Given the description of an element on the screen output the (x, y) to click on. 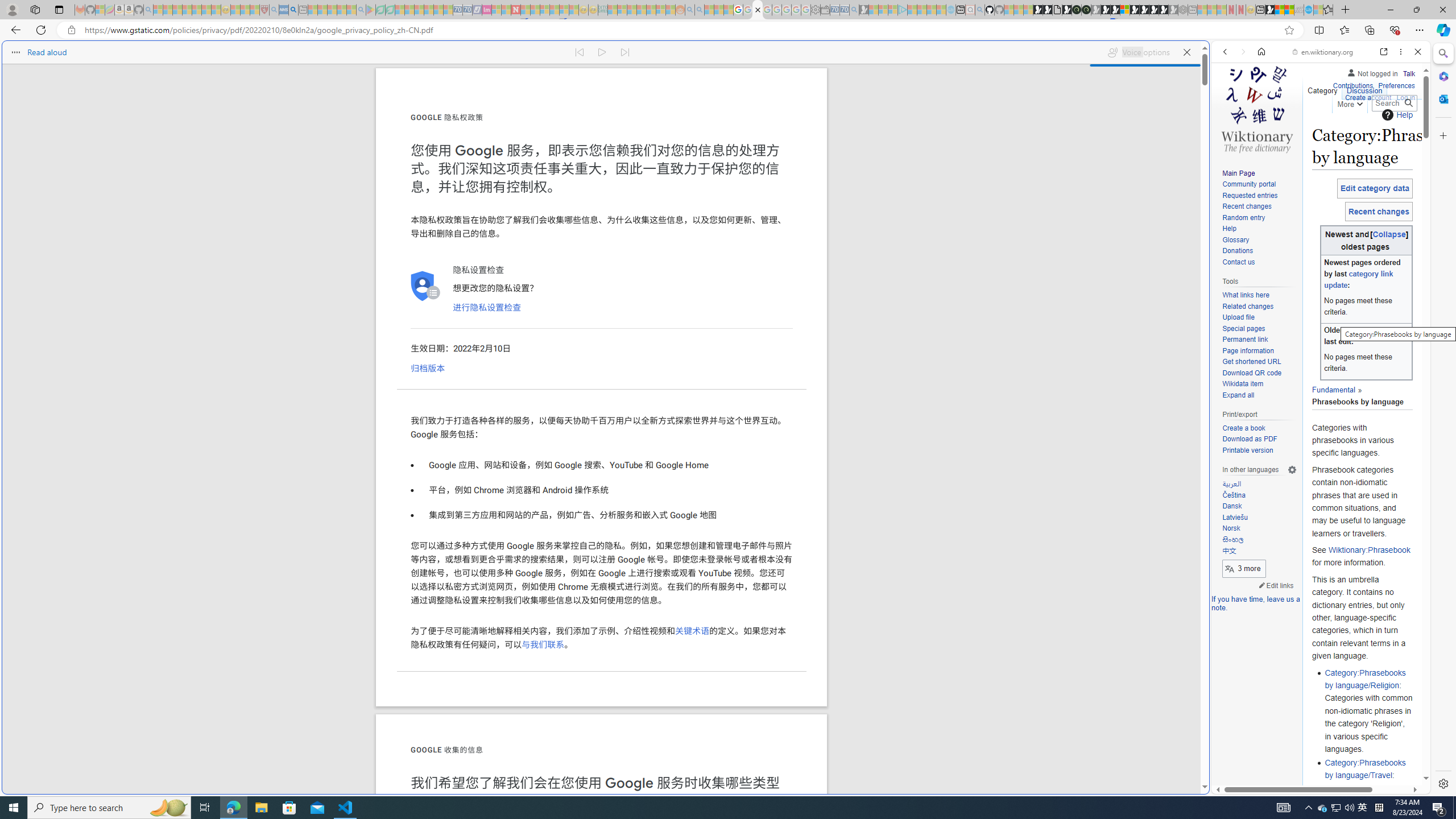
Wiktionary (1315, 380)
Page information (1247, 350)
Category:Phrasebooks by language/Religion (1365, 678)
Get shortened URL (1251, 361)
Download QR code (1259, 373)
